Given the description of an element on the screen output the (x, y) to click on. 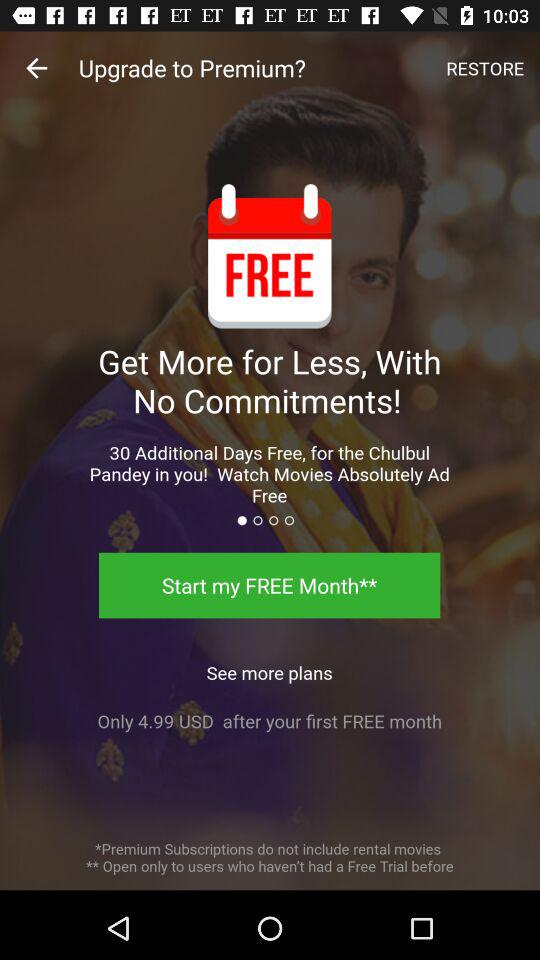
click the icon above the only 4 99 (269, 667)
